Given the description of an element on the screen output the (x, y) to click on. 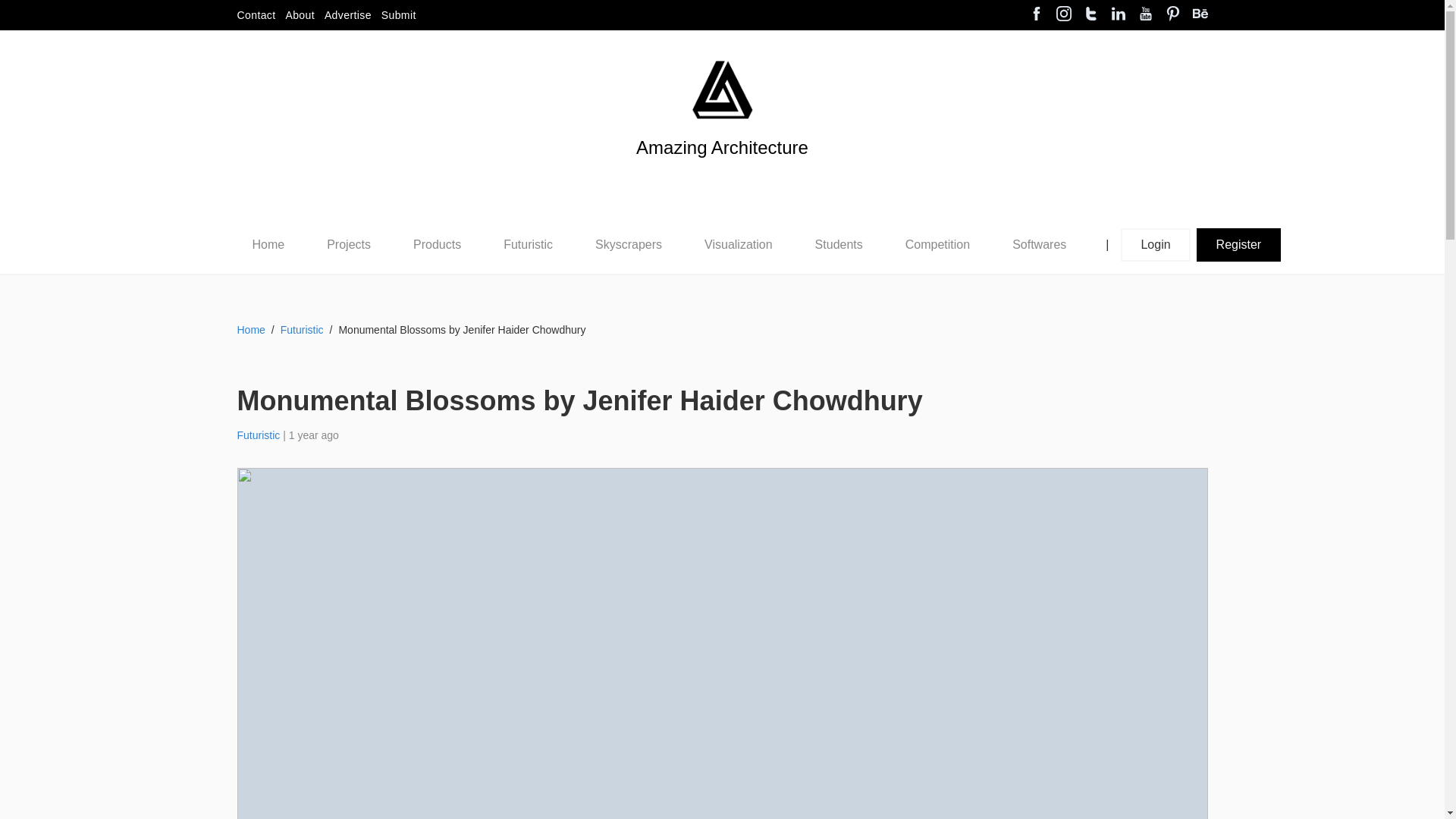
Contact (255, 15)
About us page (299, 15)
Submit page (398, 15)
Amazing Architecture (722, 173)
Home (267, 244)
Products (437, 244)
Skyscrapers (628, 244)
Amazing Architecture (722, 173)
Contact us page (255, 15)
Home (267, 244)
Advertise (347, 15)
Futuristic (528, 244)
Home (267, 245)
About (299, 15)
Advertisement page (347, 15)
